Given the description of an element on the screen output the (x, y) to click on. 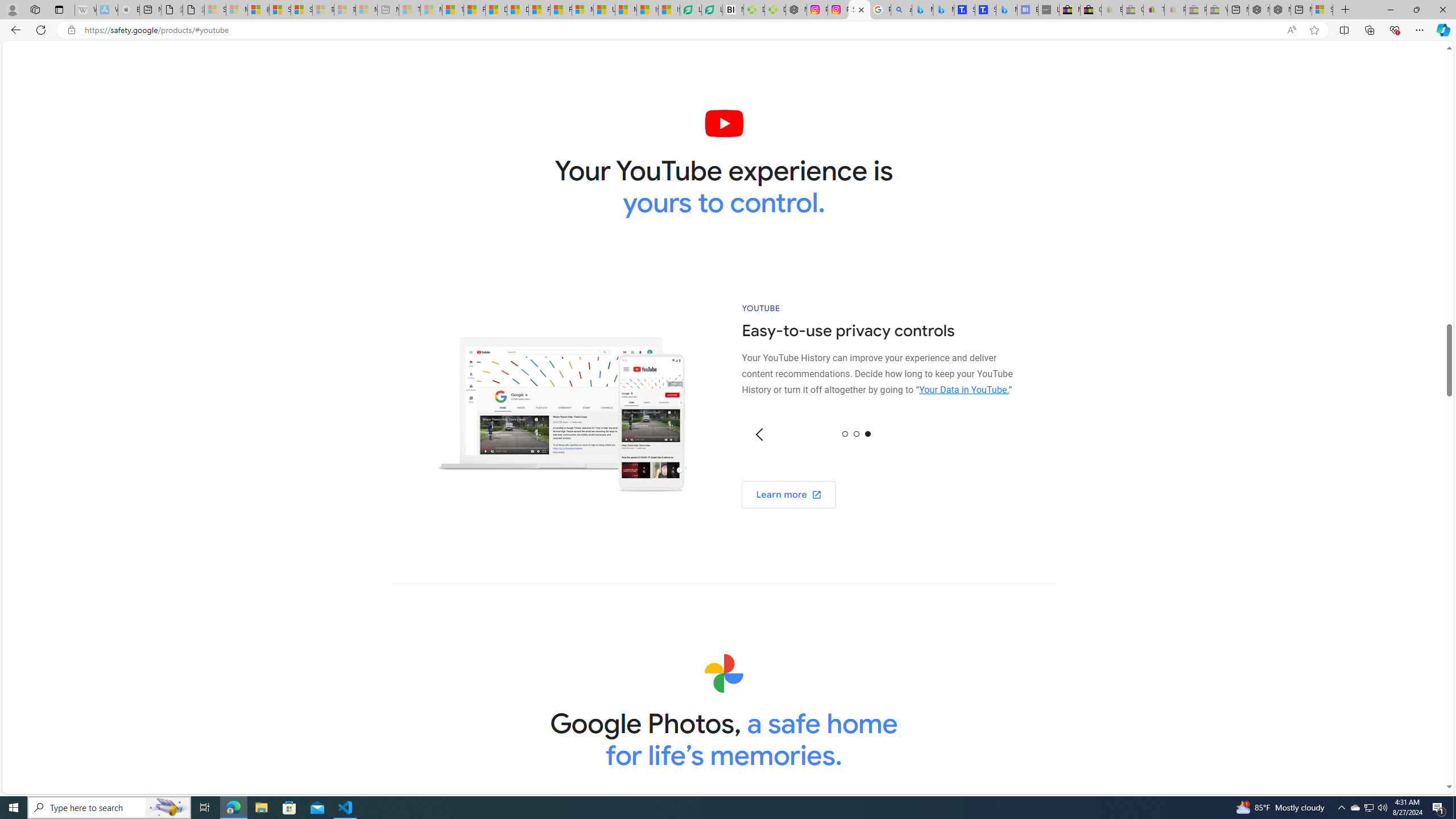
Sign in to your Microsoft account - Sleeping (215, 9)
2 (867, 433)
The Photos logo (723, 672)
1 (855, 433)
Previous (759, 434)
Drinking tea every day is proven to delay biological aging (517, 9)
Foo BAR | Trusted Community Engagement and Contributions (561, 9)
US Heat Deaths Soared To Record High Last Year (604, 9)
Nordace - Summer Adventures 2024 (1280, 9)
